Given the description of an element on the screen output the (x, y) to click on. 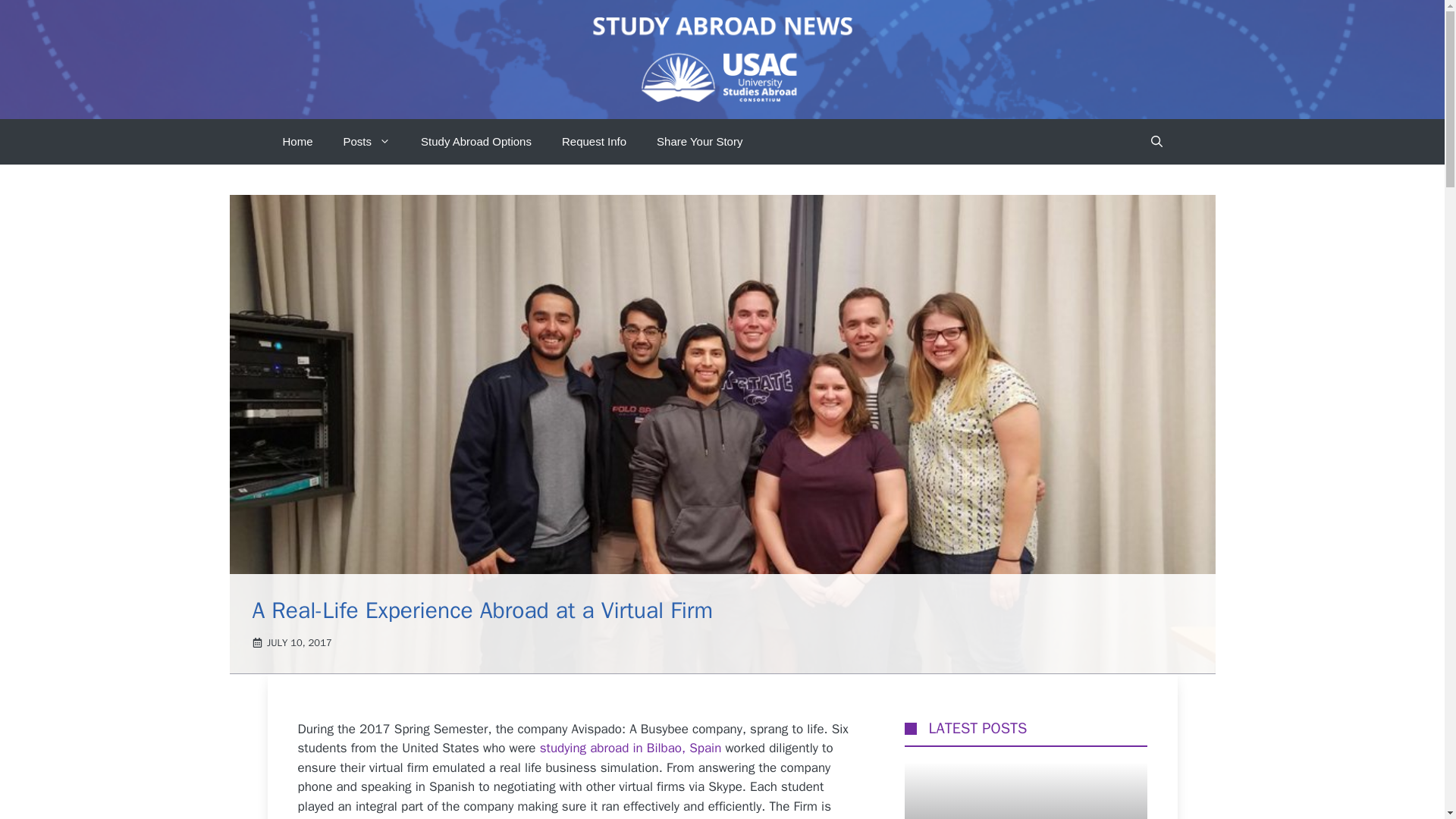
Study Abroad Options (476, 141)
studying abroad in Bilbao, Spain (631, 747)
Home (296, 141)
Share Your Story (699, 141)
Posts (367, 141)
Request Info (594, 141)
